Given the description of an element on the screen output the (x, y) to click on. 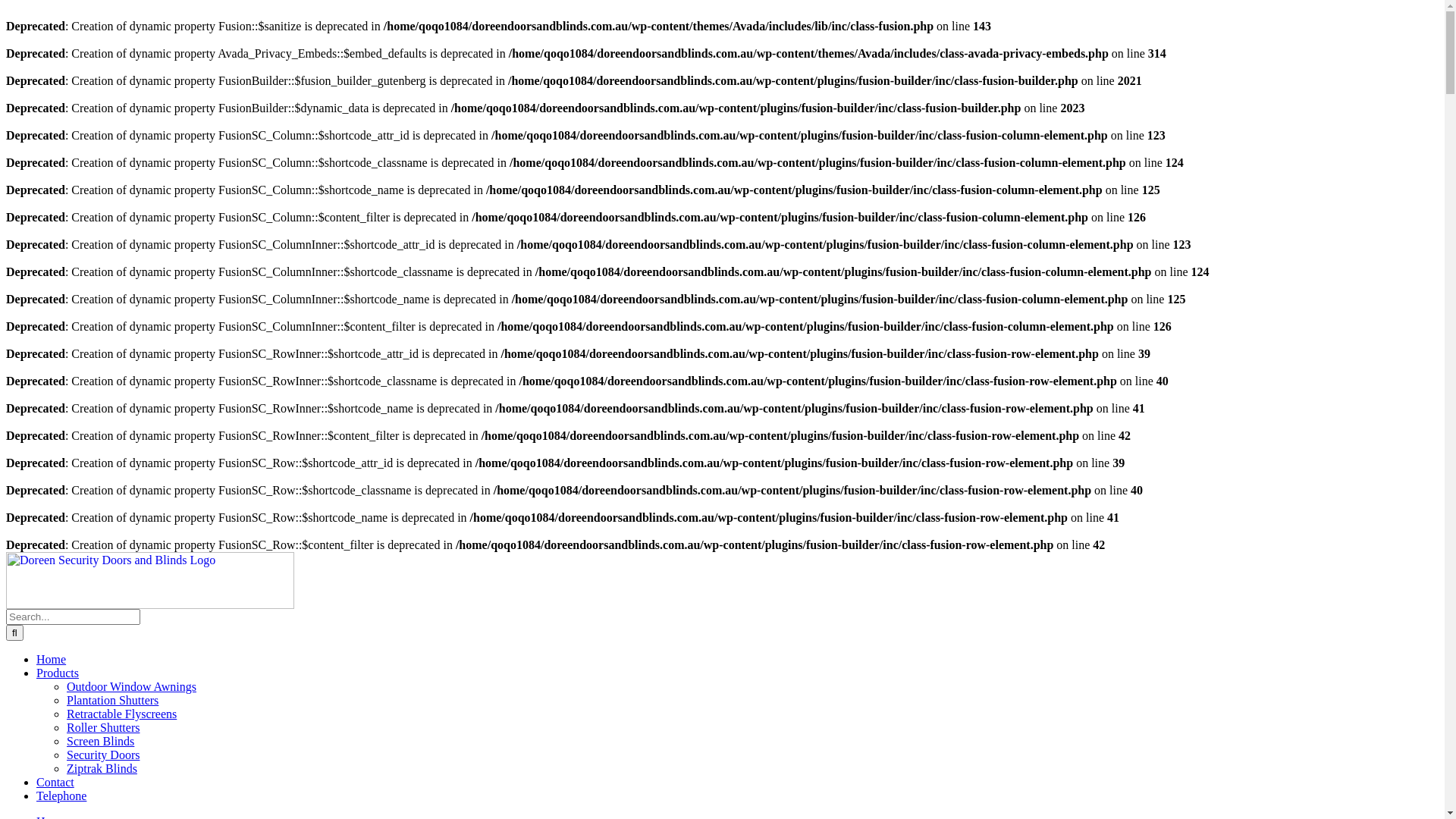
Skip to content Element type: text (5, 551)
Security Doors Element type: text (102, 754)
Screen Blinds Element type: text (100, 740)
Roller Shutters Element type: text (102, 727)
Ziptrak Blinds Element type: text (101, 768)
Telephone Element type: text (61, 795)
Retractable Flyscreens Element type: text (121, 713)
Products Element type: text (57, 672)
Plantation Shutters Element type: text (112, 699)
Home Element type: text (50, 658)
Contact Element type: text (55, 781)
Outdoor Window Awnings Element type: text (131, 686)
